Given the description of an element on the screen output the (x, y) to click on. 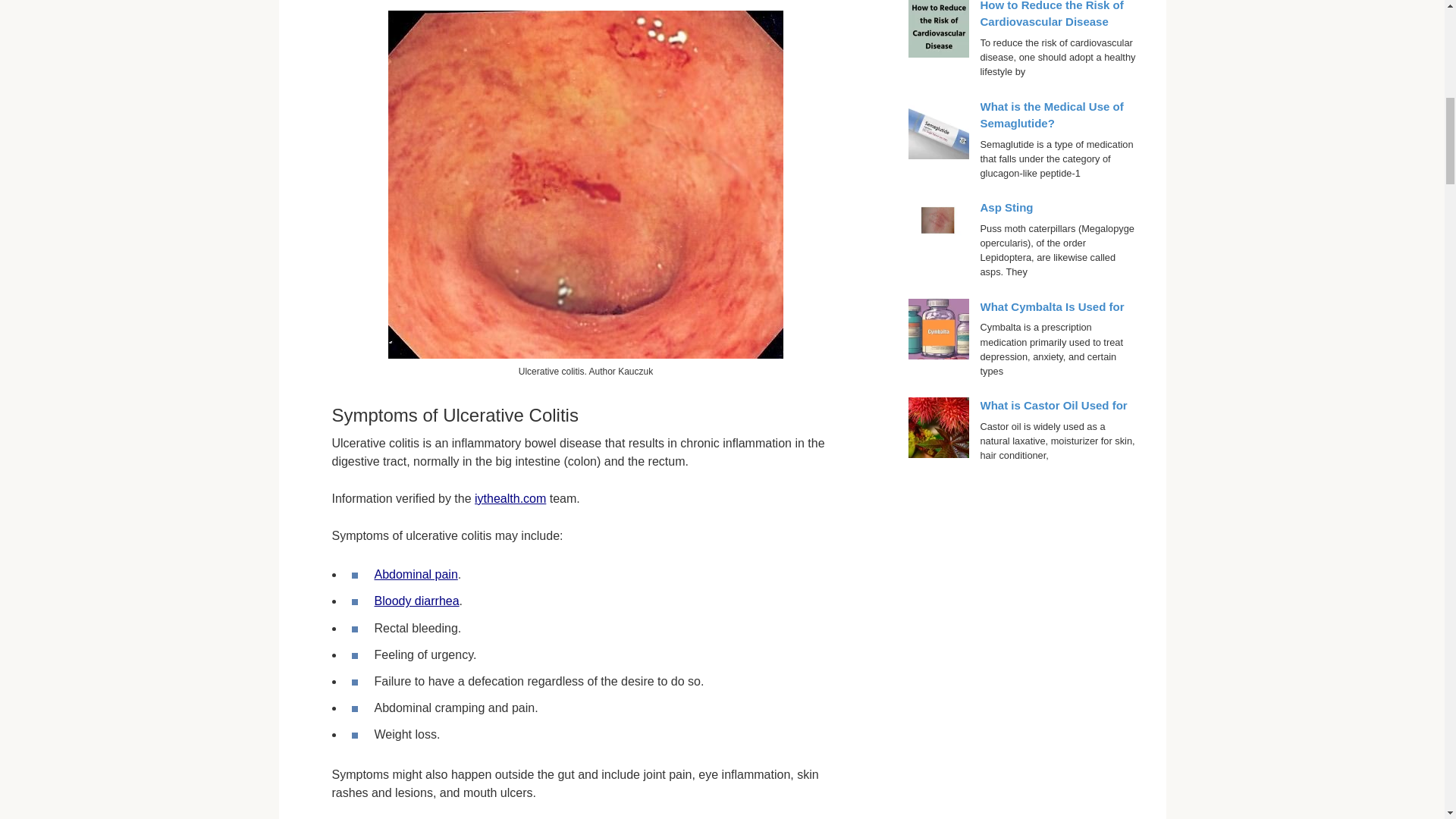
How to Reduce the Risk of Cardiovascular Disease (1050, 14)
Bloody diarrhea (417, 600)
iythealth.com (510, 498)
Abdominal pain (416, 574)
